Given the description of an element on the screen output the (x, y) to click on. 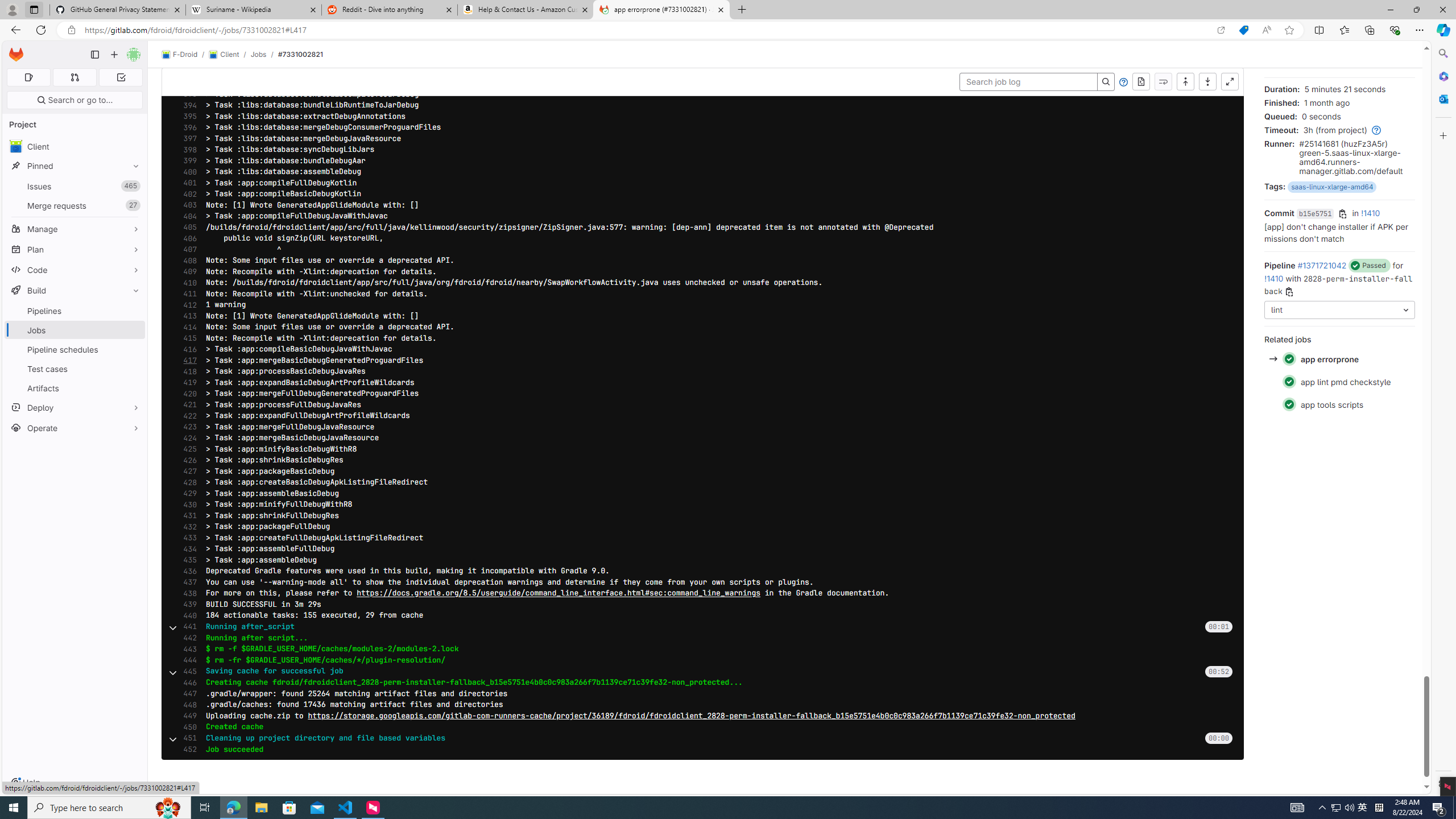
419 (186, 382)
389 (186, 49)
435 (186, 559)
Client (74, 145)
Merge requests 27 (74, 205)
420 (186, 393)
393 (186, 93)
Help & Contact Us - Amazon Customer Service (525, 9)
Status: Passed app errorprone (1338, 359)
415 (186, 337)
422 (186, 415)
